Given the description of an element on the screen output the (x, y) to click on. 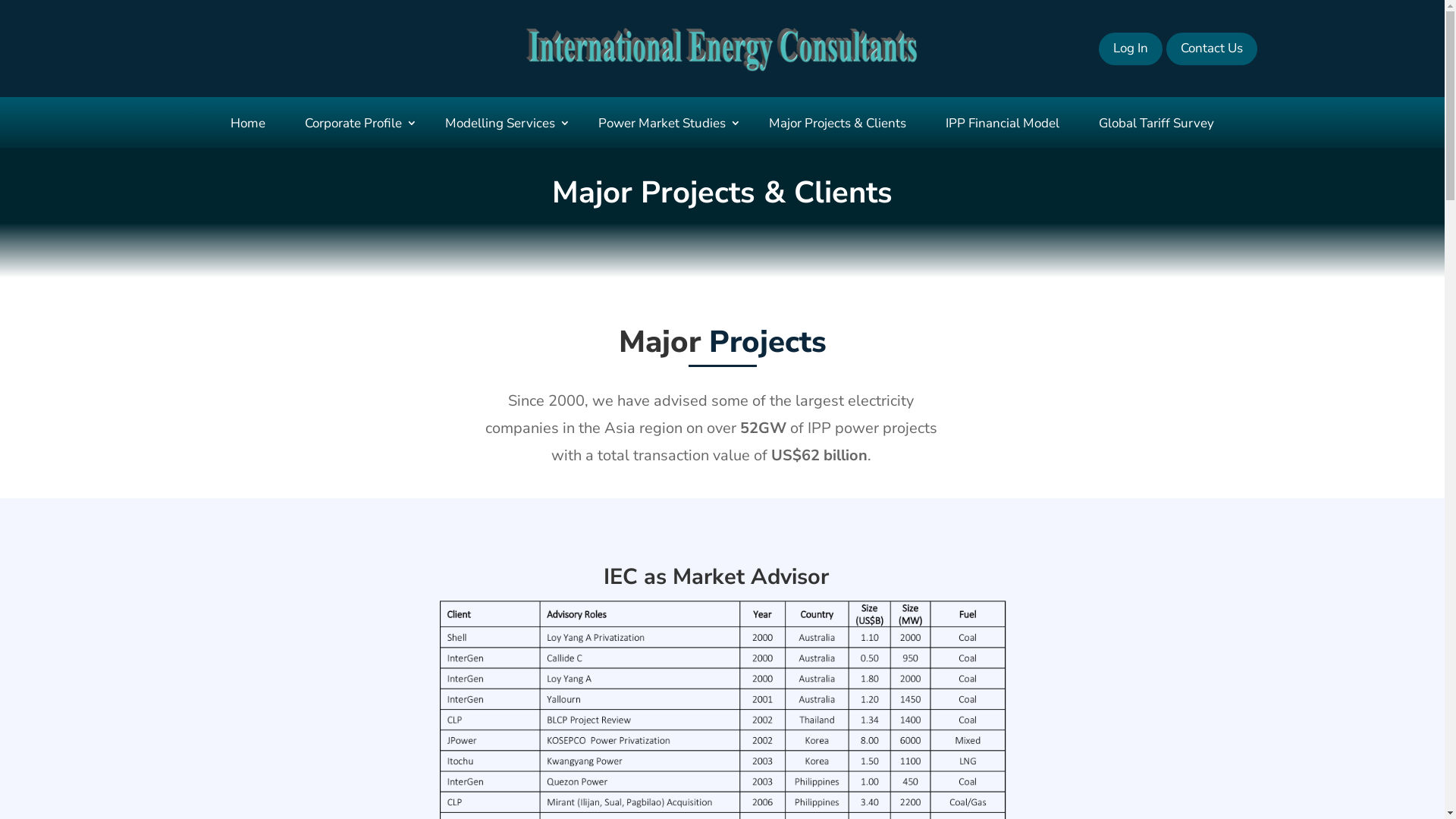
Log In Element type: text (1130, 48)
Contact Us Element type: text (1211, 48)
Corporate Profile Element type: text (355, 122)
Power Market Studies Element type: text (663, 122)
Major Projects & Clients Element type: text (837, 122)
Global Tariff Survey Element type: text (1156, 122)
IPP Financial Model Element type: text (1002, 122)
Logo Element type: hover (721, 50)
Modelling Services Element type: text (501, 122)
Home Element type: text (247, 122)
